Given the description of an element on the screen output the (x, y) to click on. 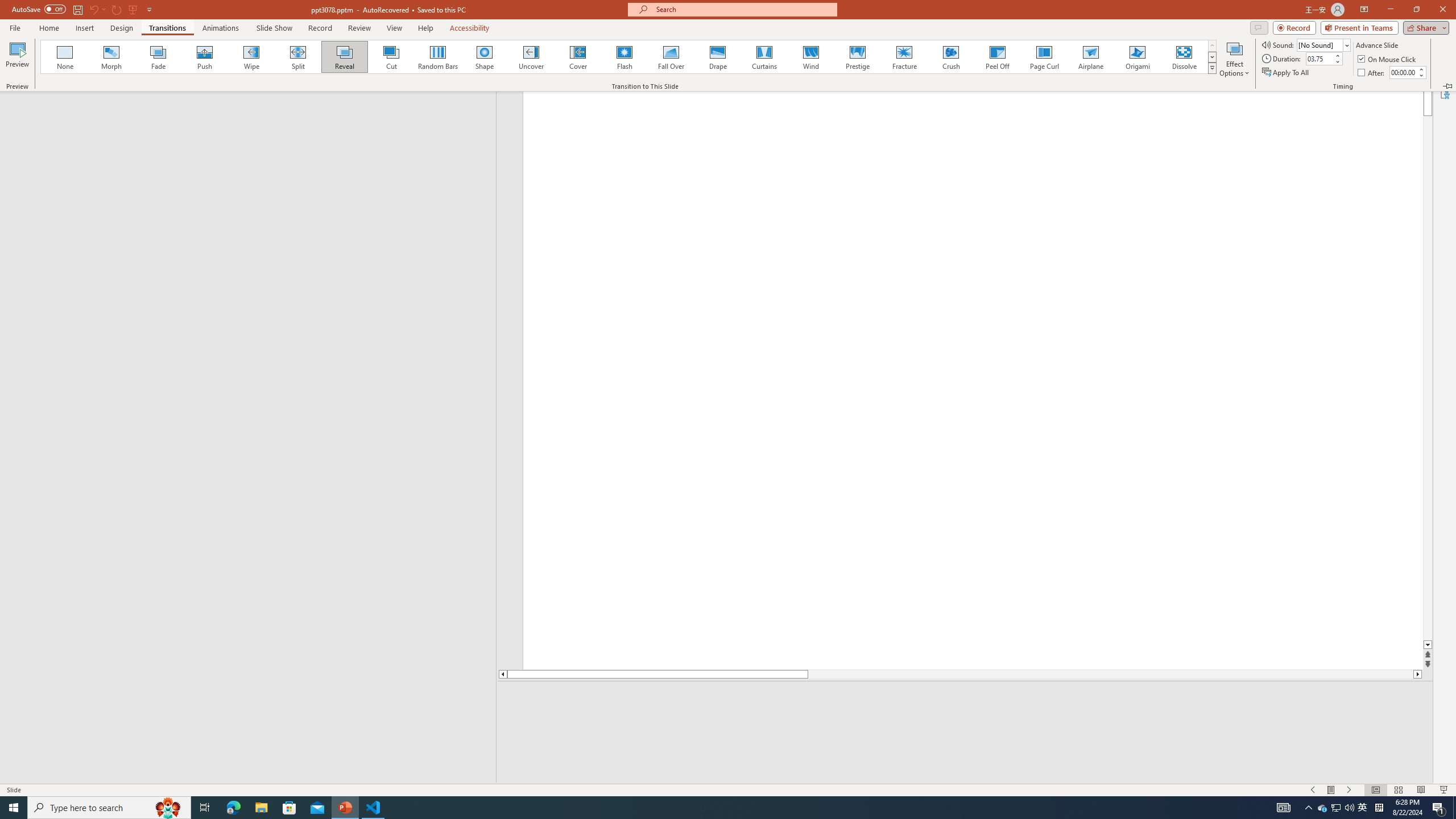
Menu On (1331, 790)
